Given the description of an element on the screen output the (x, y) to click on. 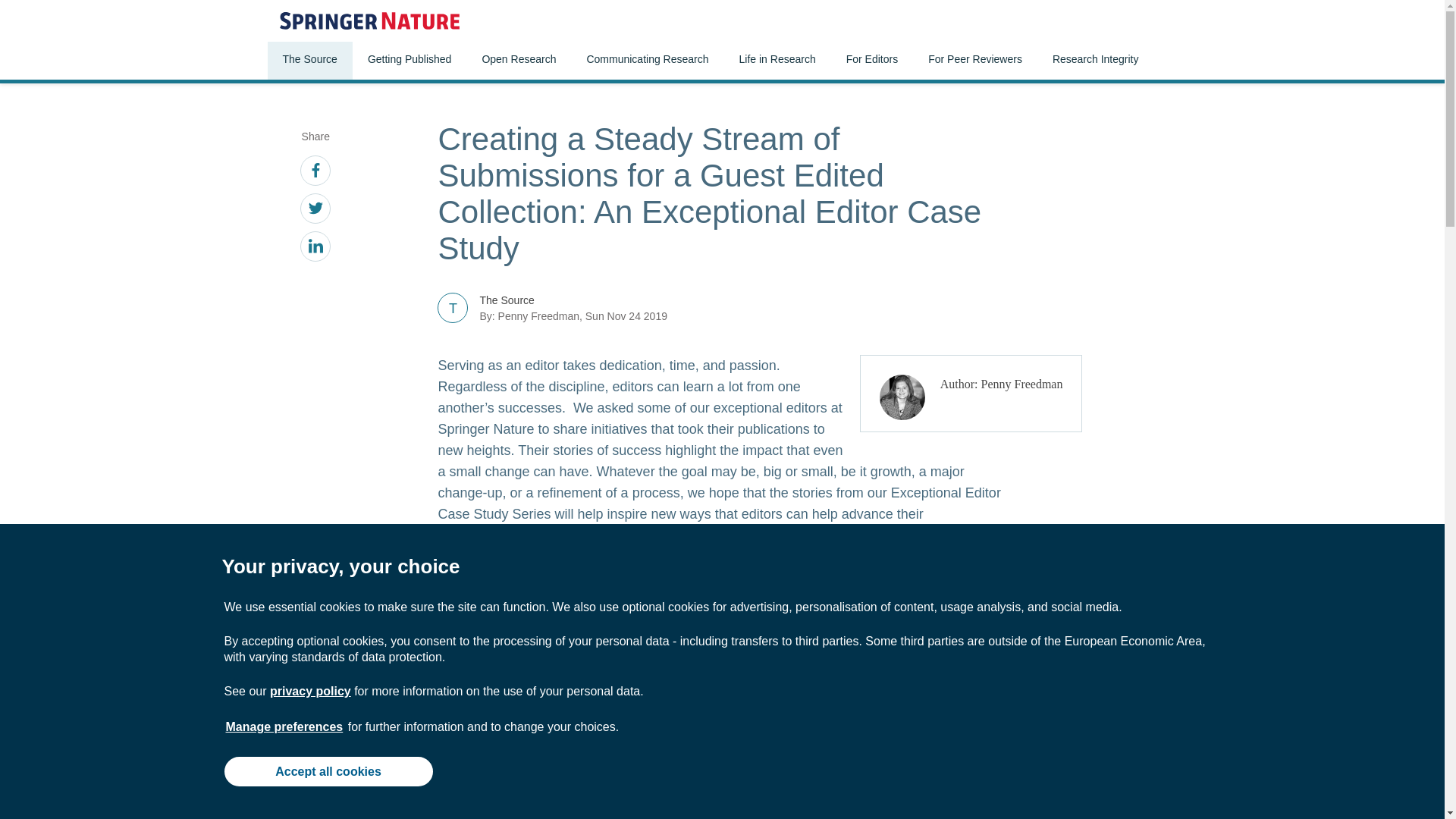
Accept all cookies (328, 771)
Communicating Research (646, 60)
facebook (315, 172)
Scientific Reports (840, 750)
Manage preferences (284, 726)
Open Research (517, 60)
For Editors (871, 60)
privacy policy (309, 690)
linkedin (315, 248)
For Peer Reviewers (974, 60)
The Source (309, 60)
twitter (315, 210)
Life in Research (777, 60)
Research Integrity (1095, 60)
Getting Published (409, 60)
